Given the description of an element on the screen output the (x, y) to click on. 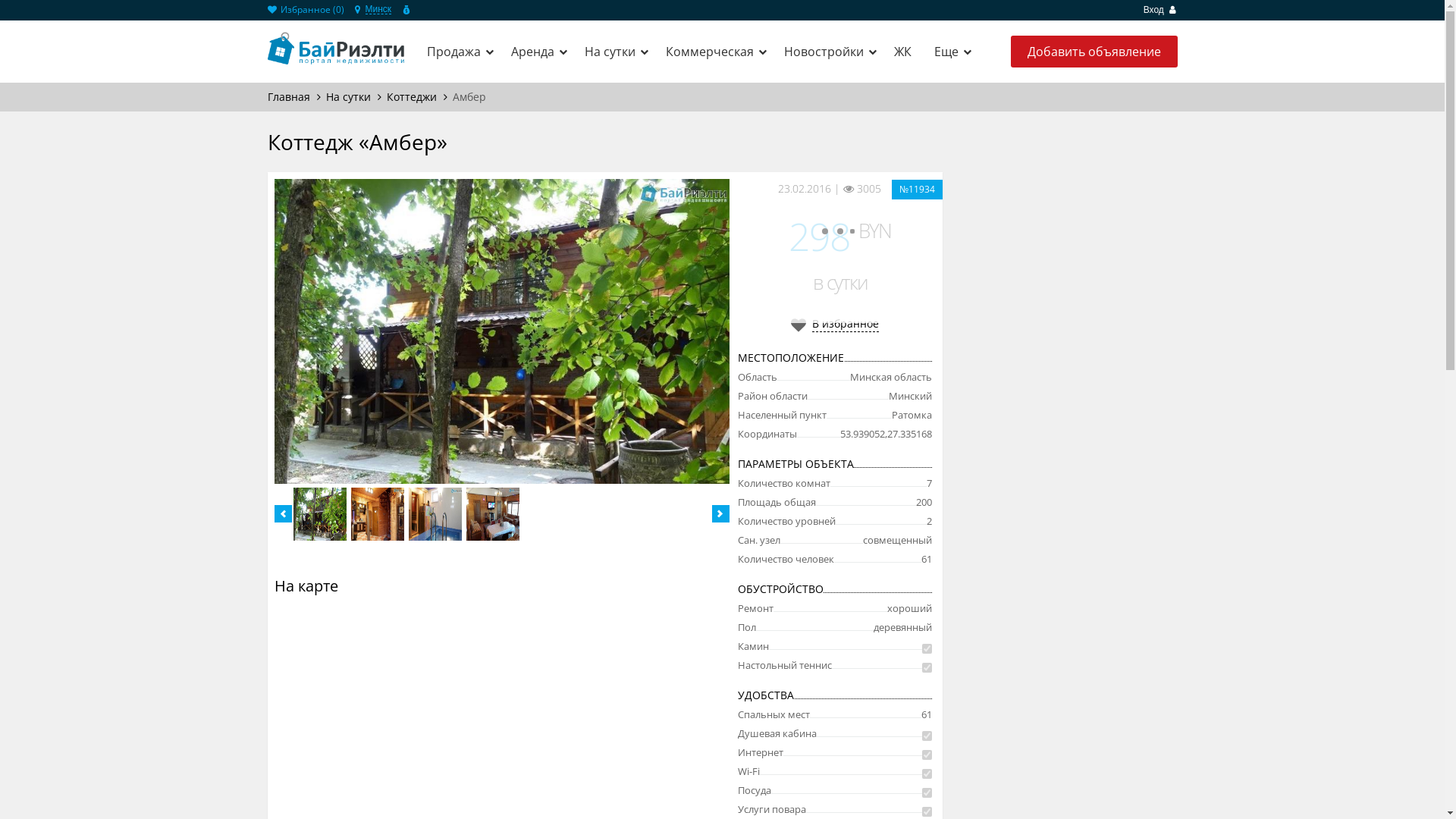
0 Element type: text (450, 38)
0 Element type: text (450, 59)
